Given the description of an element on the screen output the (x, y) to click on. 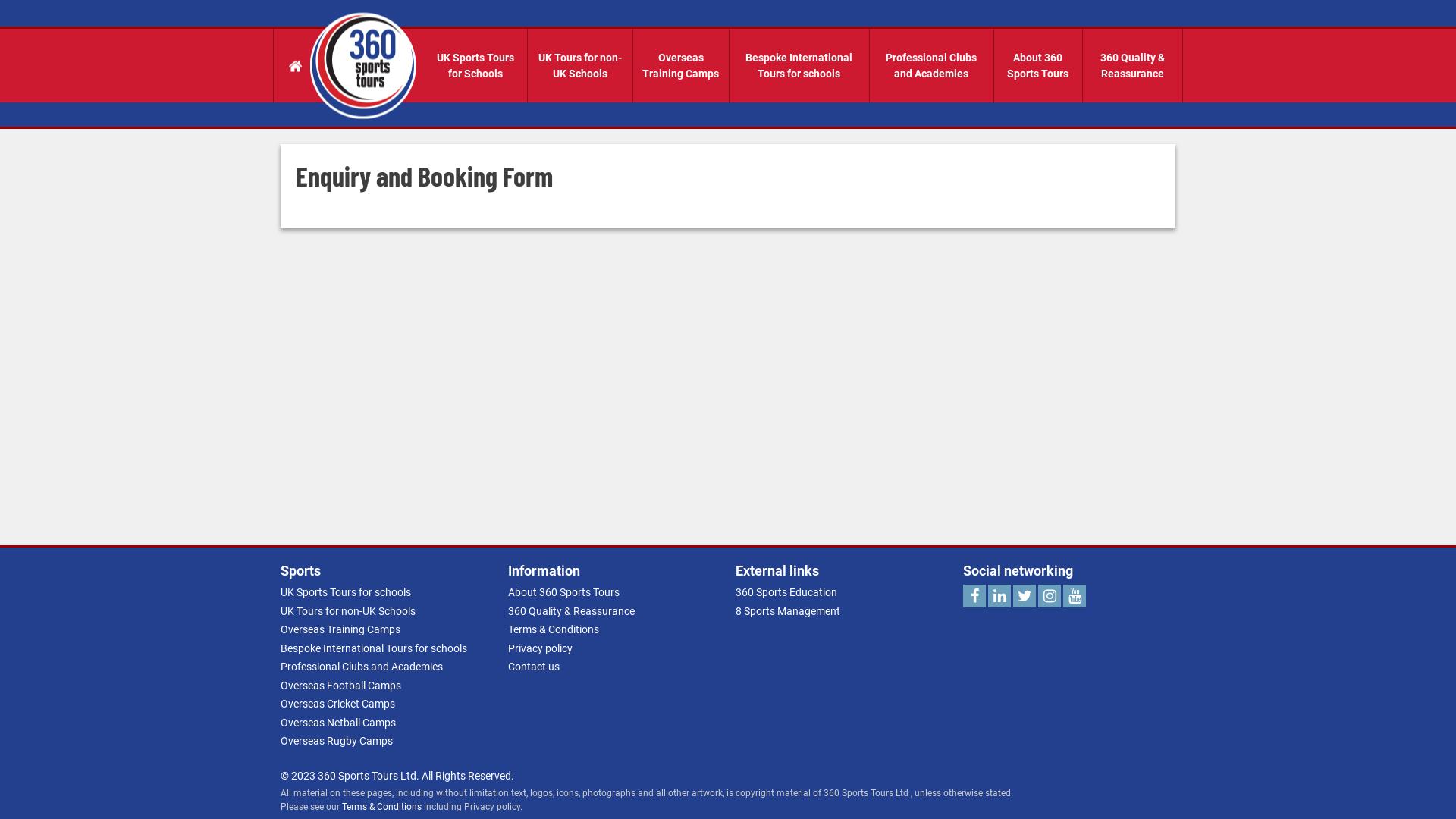
Professional Clubs and Academies Element type: text (931, 65)
Contact us Element type: text (533, 666)
UK Sports Tours for Schools Element type: text (475, 65)
About 360 Sports Tours Element type: text (563, 592)
360 Quality & Reassurance Element type: text (1132, 65)
Overseas Football Camps Element type: text (340, 685)
Overseas Training Camps Element type: text (681, 65)
8 Sports Management Element type: text (787, 611)
UK Tours for non-UK Schools Element type: text (347, 611)
Overseas Netball Camps Element type: text (337, 721)
Terms & Conditions Element type: text (553, 629)
360 Quality & Reassurance Element type: text (571, 611)
Bespoke International Tours for schools Element type: text (799, 65)
UK Sports Tours for schools Element type: text (345, 592)
Privacy policy Element type: text (540, 647)
Terms & Conditions Element type: text (381, 806)
Professional Clubs and Academies Element type: text (361, 666)
Overseas Training Camps Element type: text (340, 629)
Overseas Rugby Camps Element type: text (336, 740)
UK Tours for non-UK Schools Element type: text (580, 65)
360 Sports Education Element type: text (786, 592)
Overseas Cricket Camps Element type: text (337, 703)
Bespoke International Tours for schools Element type: text (373, 647)
About 360 Sports Tours Element type: text (1038, 65)
